Given the description of an element on the screen output the (x, y) to click on. 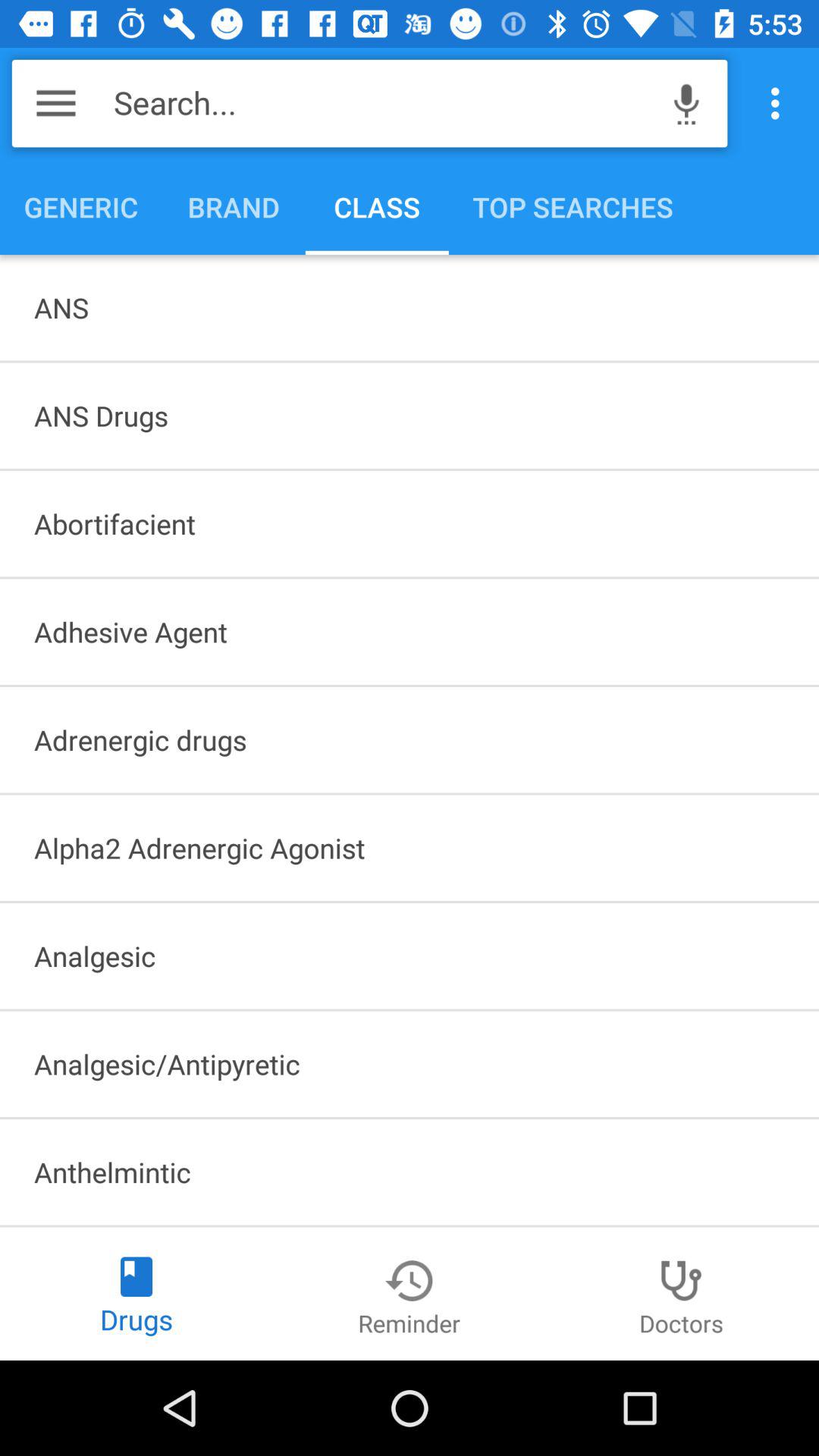
click item below the analgesic/antipyretic icon (409, 1171)
